Given the description of an element on the screen output the (x, y) to click on. 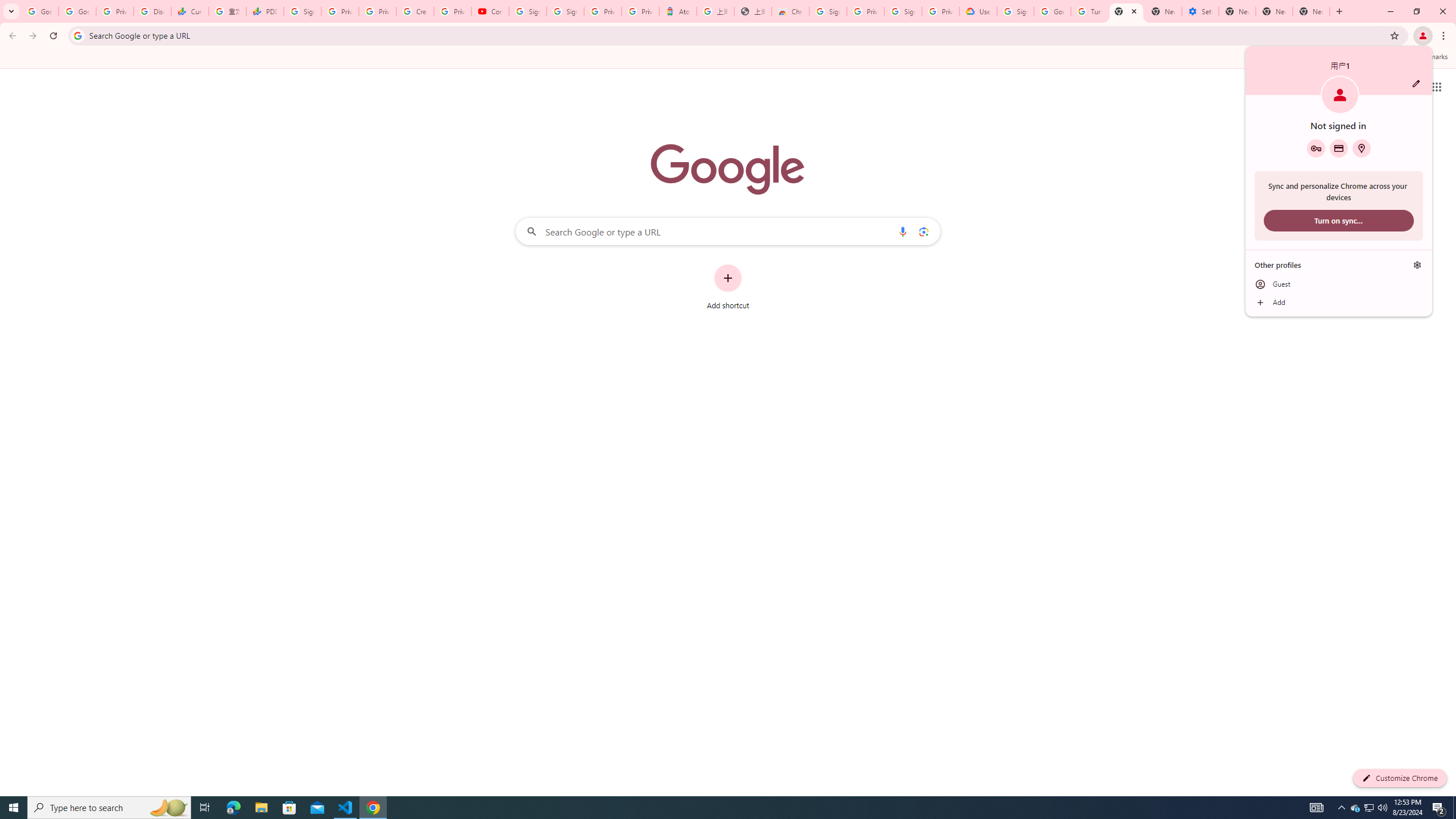
Sign in - Google Accounts (1368, 807)
Chrome Web Store - Color themes by Chrome (903, 11)
Payment methods (790, 11)
Search highlights icon opens search home window (1338, 148)
User Promoted Notification Area (167, 807)
Task View (1368, 807)
Currencies - Google Finance (204, 807)
